Given the description of an element on the screen output the (x, y) to click on. 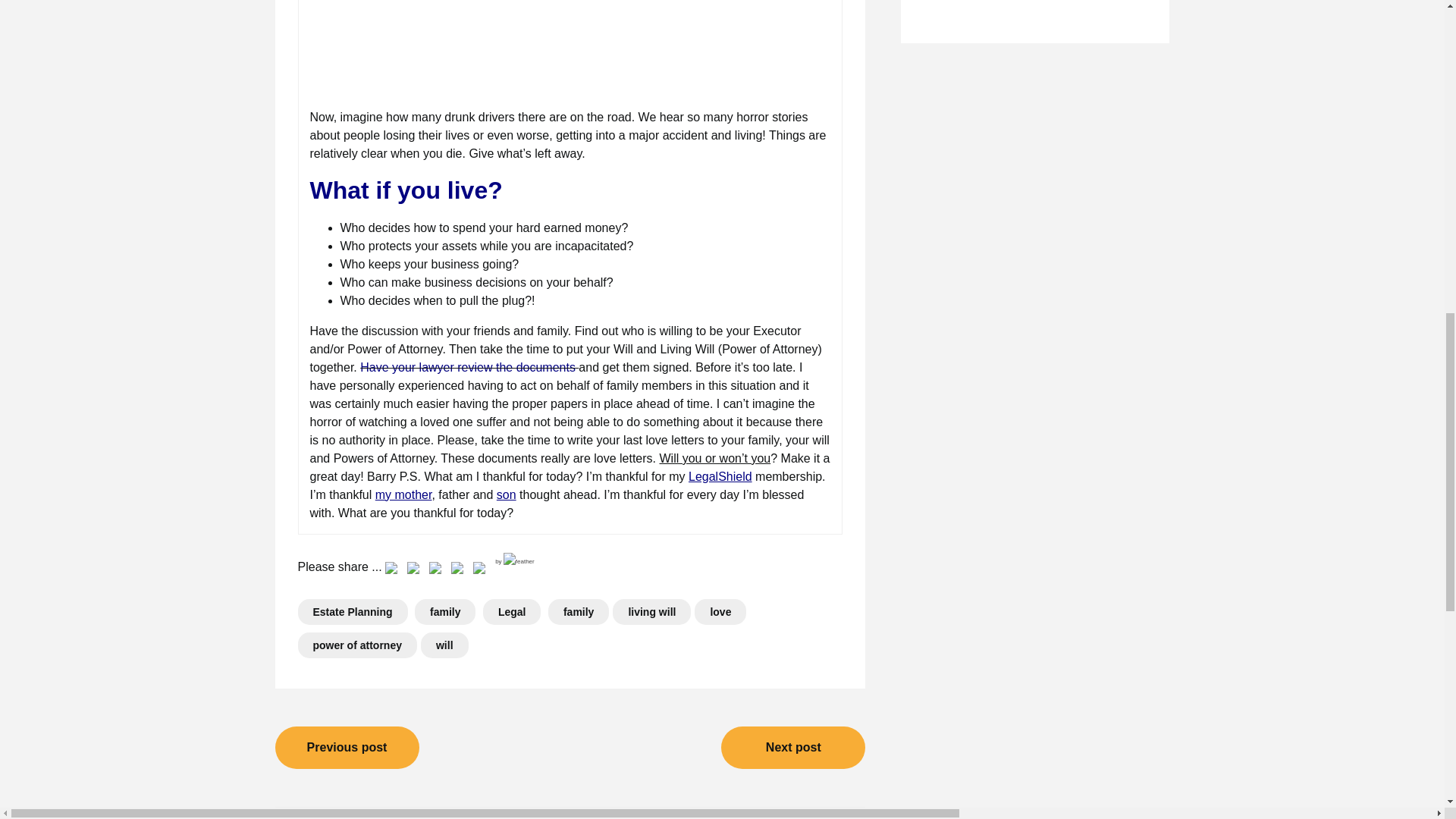
Share on Facebook (391, 570)
LegalShield (720, 476)
Have your lawyer review the documents (468, 367)
Share on Facebook (394, 570)
my mother (403, 494)
by (514, 561)
Share on Twitter (416, 570)
Denise Clermont, LegalShield Independent Associate (720, 476)
son (506, 494)
Share on Twitter (413, 570)
LegalShield (468, 367)
